Given the description of an element on the screen output the (x, y) to click on. 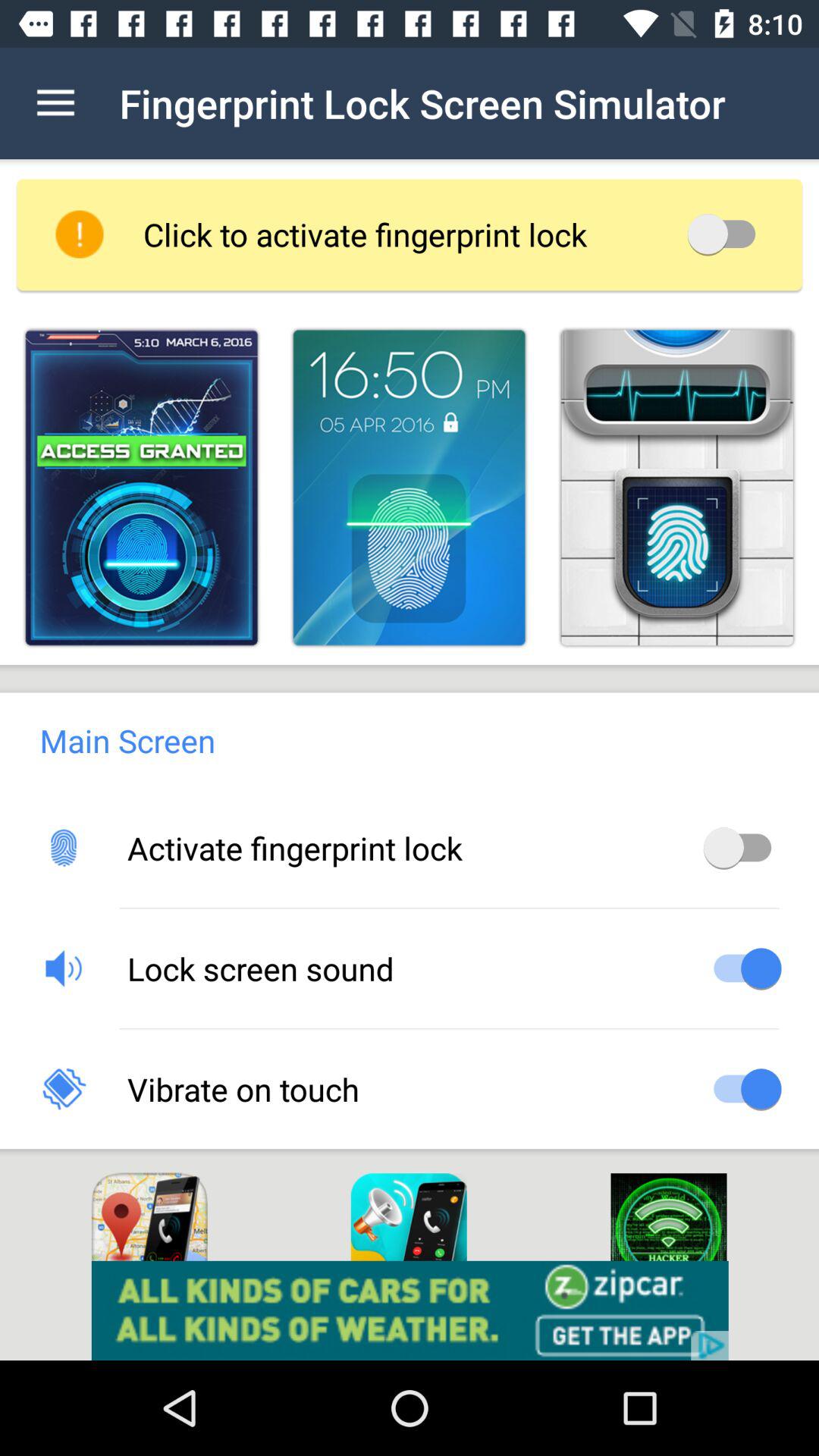
lock off/on (726, 233)
